Given the description of an element on the screen output the (x, y) to click on. 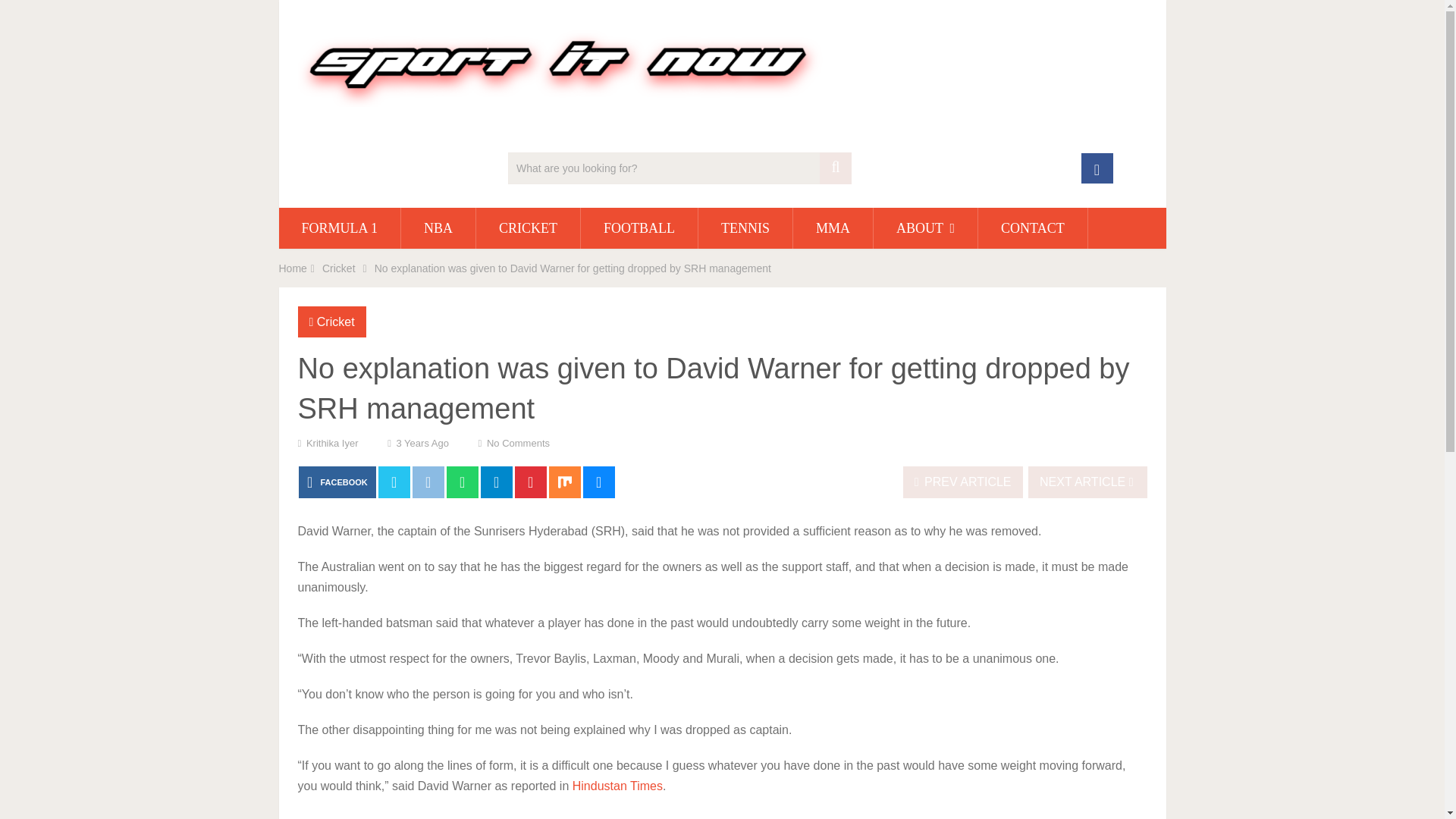
Posts by Krithika Iyer (331, 442)
View all posts in Cricket (336, 321)
NBA (438, 228)
Krithika Iyer (331, 442)
CRICKET (527, 228)
NEXT ARTICLE (1087, 481)
No Comments (518, 442)
Home (293, 268)
CONTACT (1032, 228)
FACEBOOK (336, 481)
FOOTBALL (638, 228)
FORMULA 1 (340, 228)
ABOUT (924, 228)
Hindustan Times (617, 785)
TENNIS (745, 228)
